Given the description of an element on the screen output the (x, y) to click on. 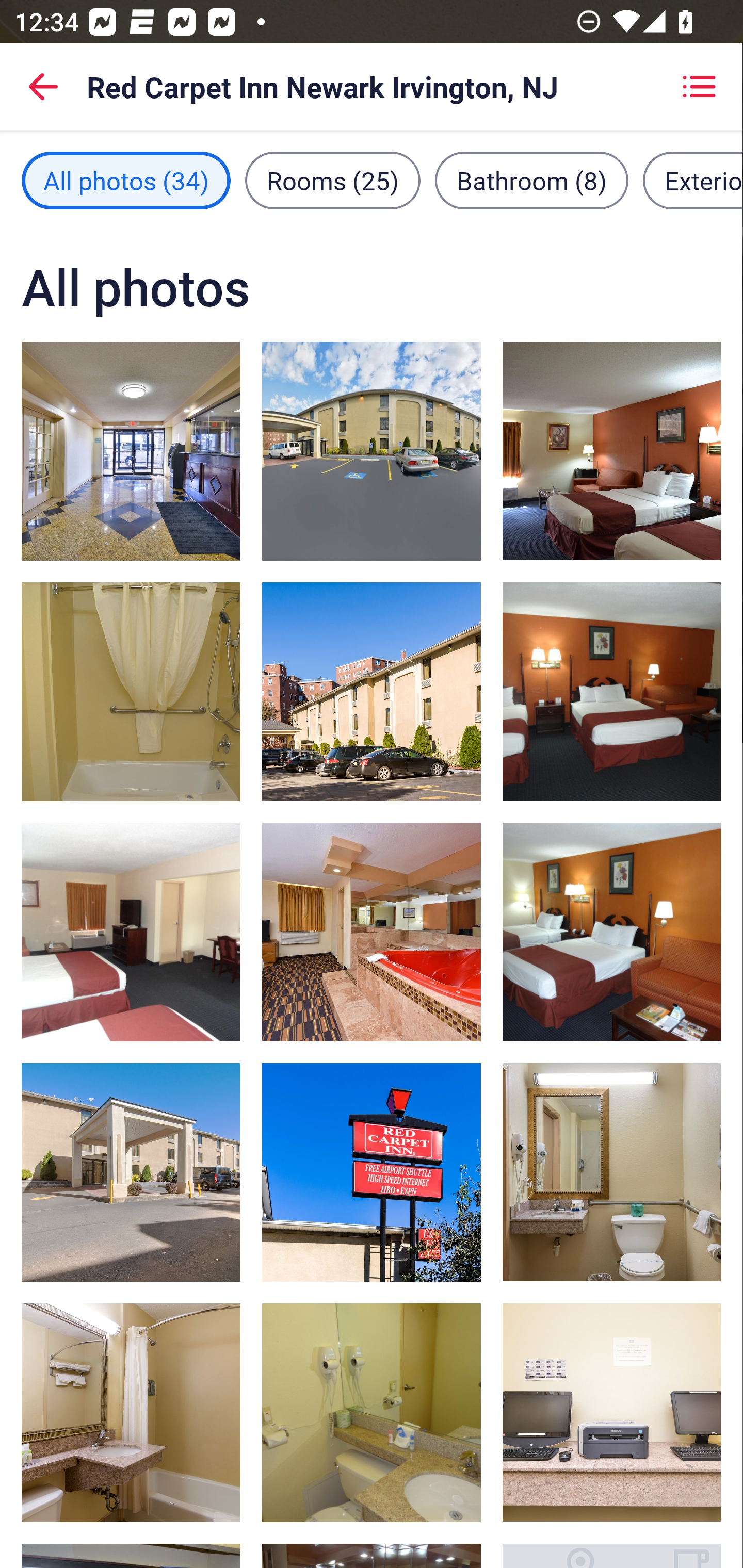
Back (43, 86)
Showing grid view (699, 86)
All photos filter, 34 images (125, 180)
Rooms filter, 25 images (332, 180)
Bathroom filter, 8 images (531, 180)
Interior entrance, image (130, 451)
Property grounds, image (371, 451)
Free self parking, image (371, 691)
Exterior, image (130, 1172)
Exterior, image (371, 1172)
Business center, image (611, 1411)
